Given the description of an element on the screen output the (x, y) to click on. 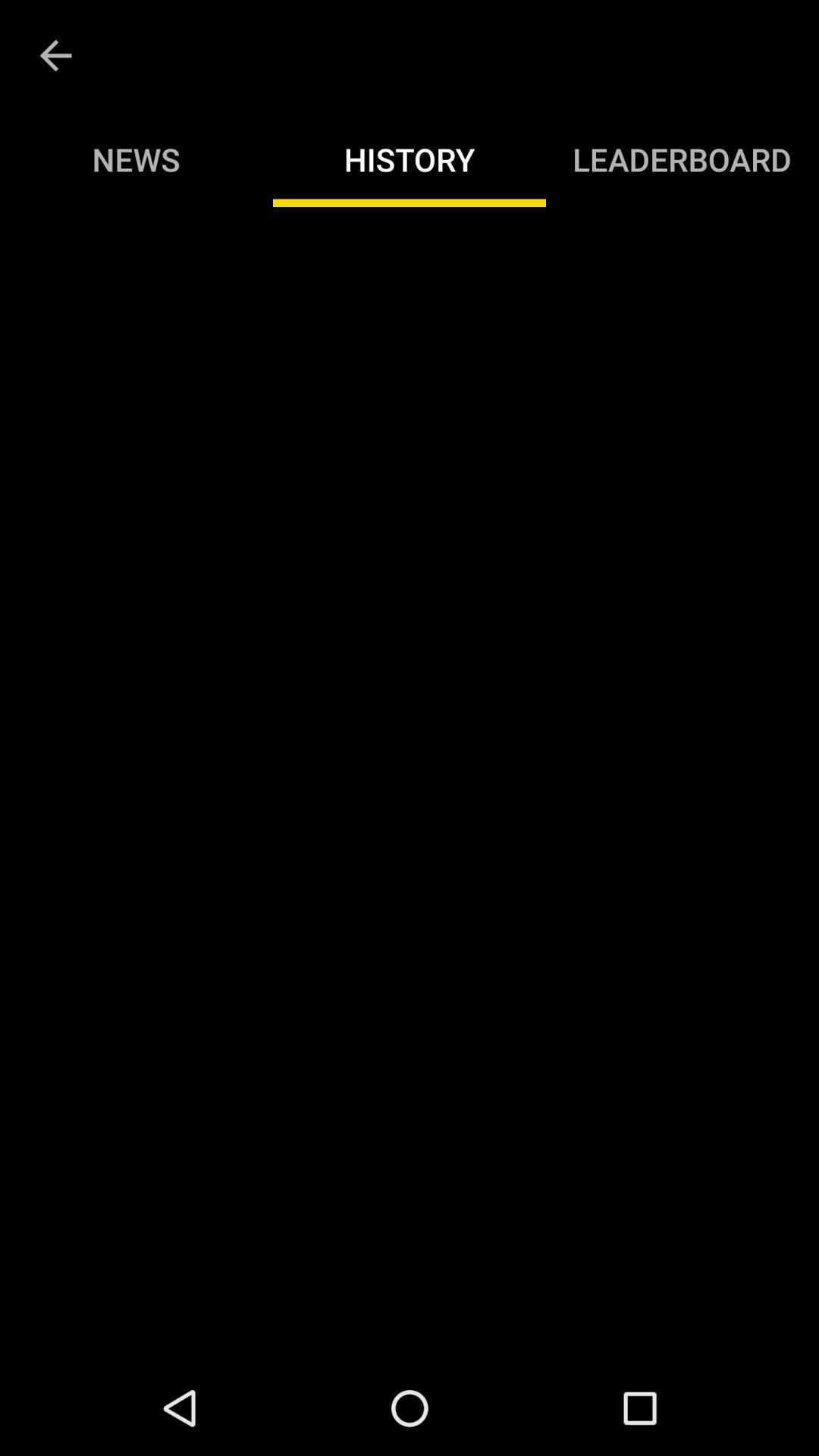
select item below the news item (409, 783)
